Given the description of an element on the screen output the (x, y) to click on. 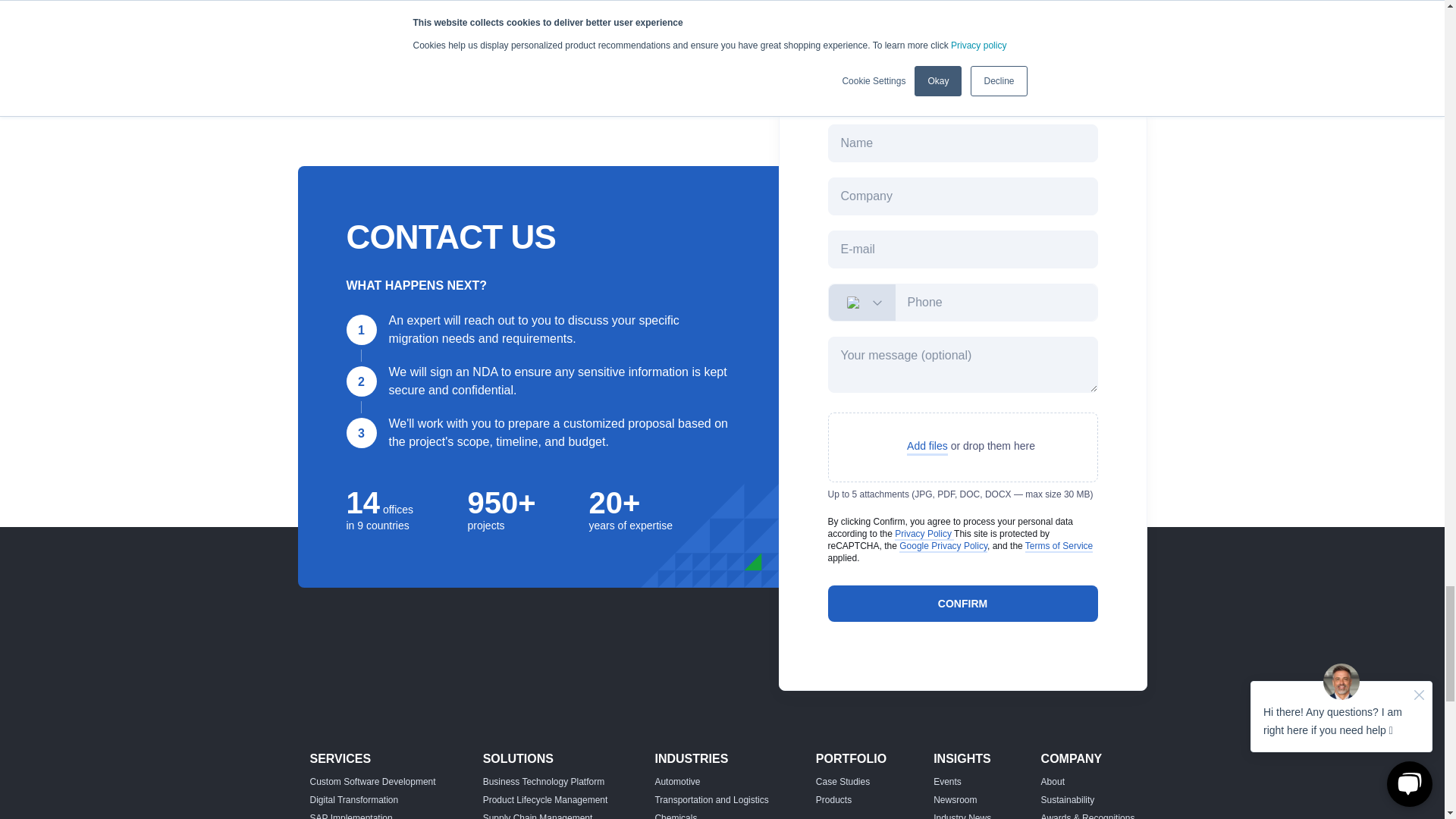
CONFIRM (962, 603)
